Given the description of an element on the screen output the (x, y) to click on. 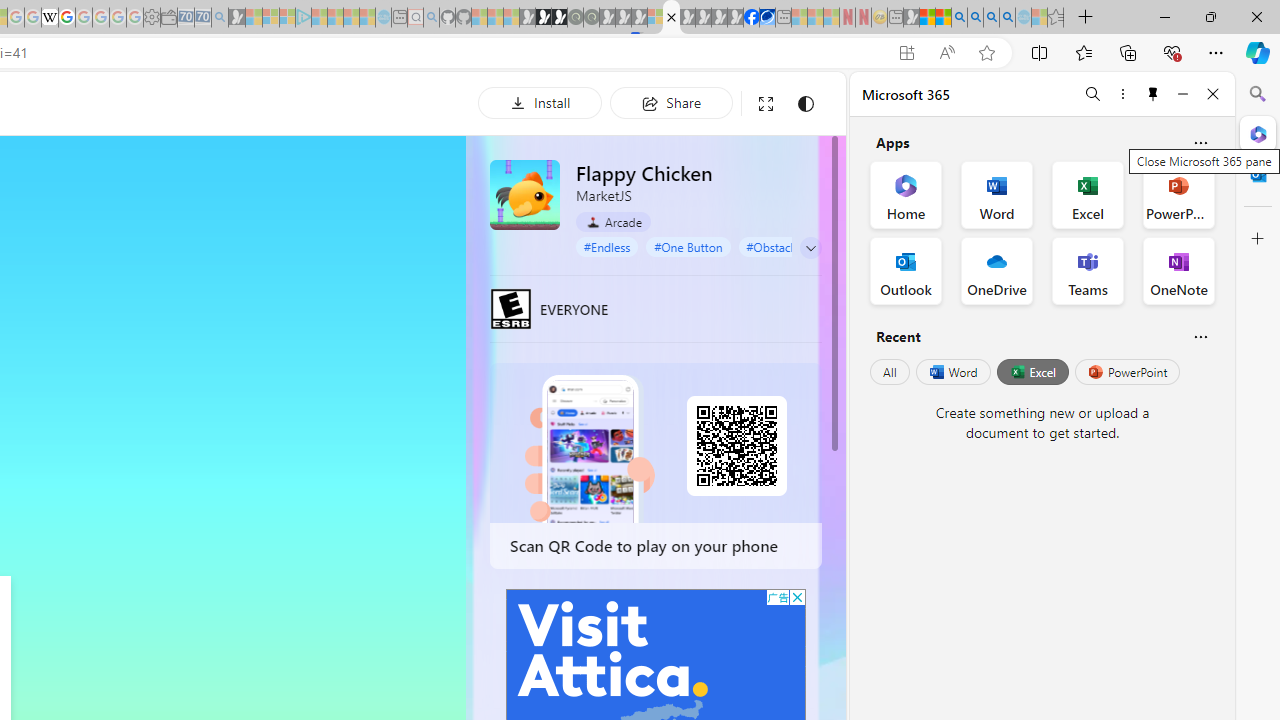
Excel Office App (1087, 194)
#One Button (688, 246)
Share (671, 102)
Excel (1031, 372)
MSN - Sleeping (911, 17)
Class: expand-arrow neutral (810, 247)
